Given the description of an element on the screen output the (x, y) to click on. 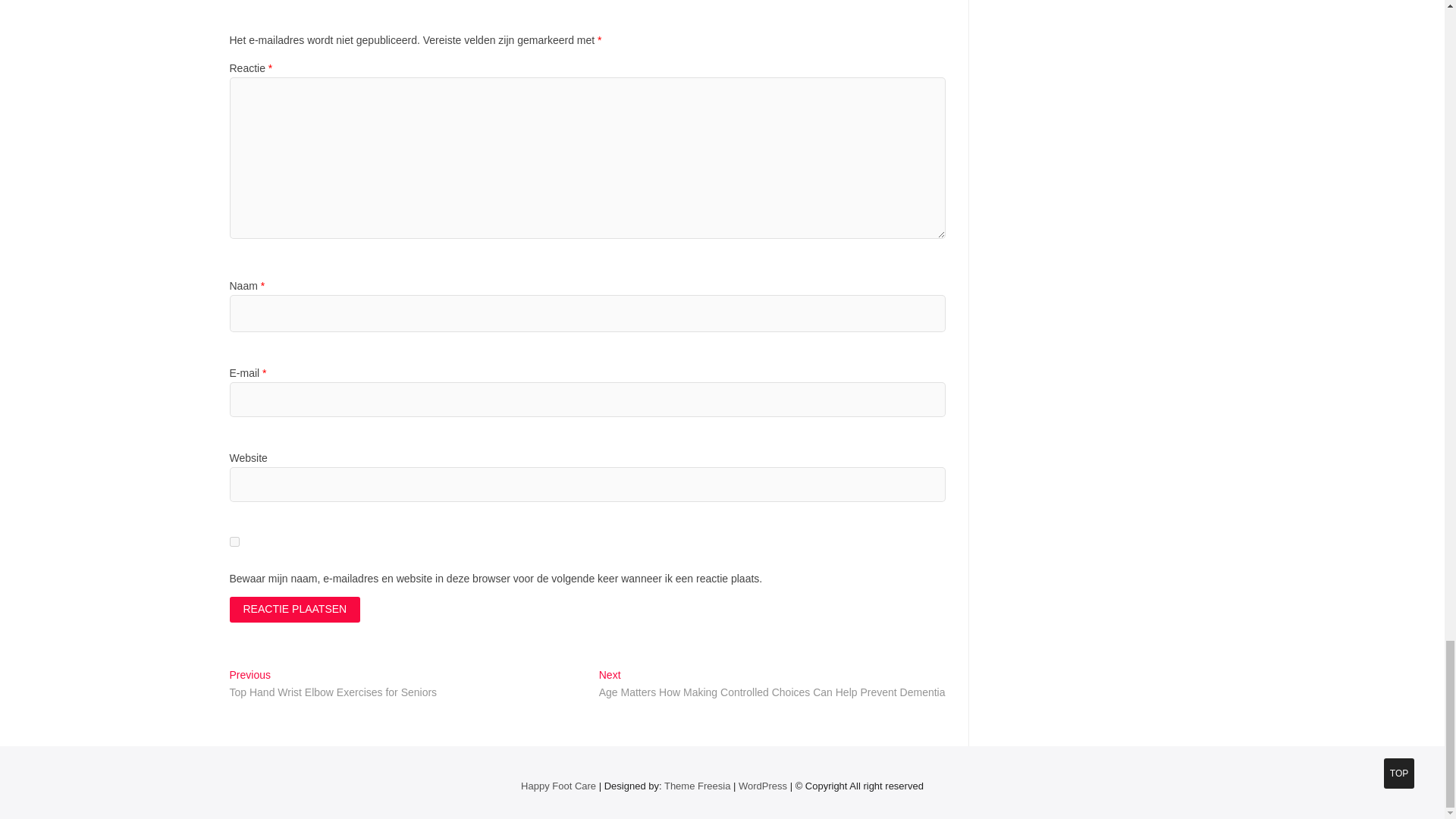
Theme Freesia (696, 785)
Happy Foot Care (558, 785)
Happy Foot Care (558, 785)
Reactie plaatsen (293, 609)
Reactie plaatsen (293, 609)
WordPress (762, 785)
yes (233, 542)
WordPress (762, 785)
Theme Freesia (696, 785)
